Given the description of an element on the screen output the (x, y) to click on. 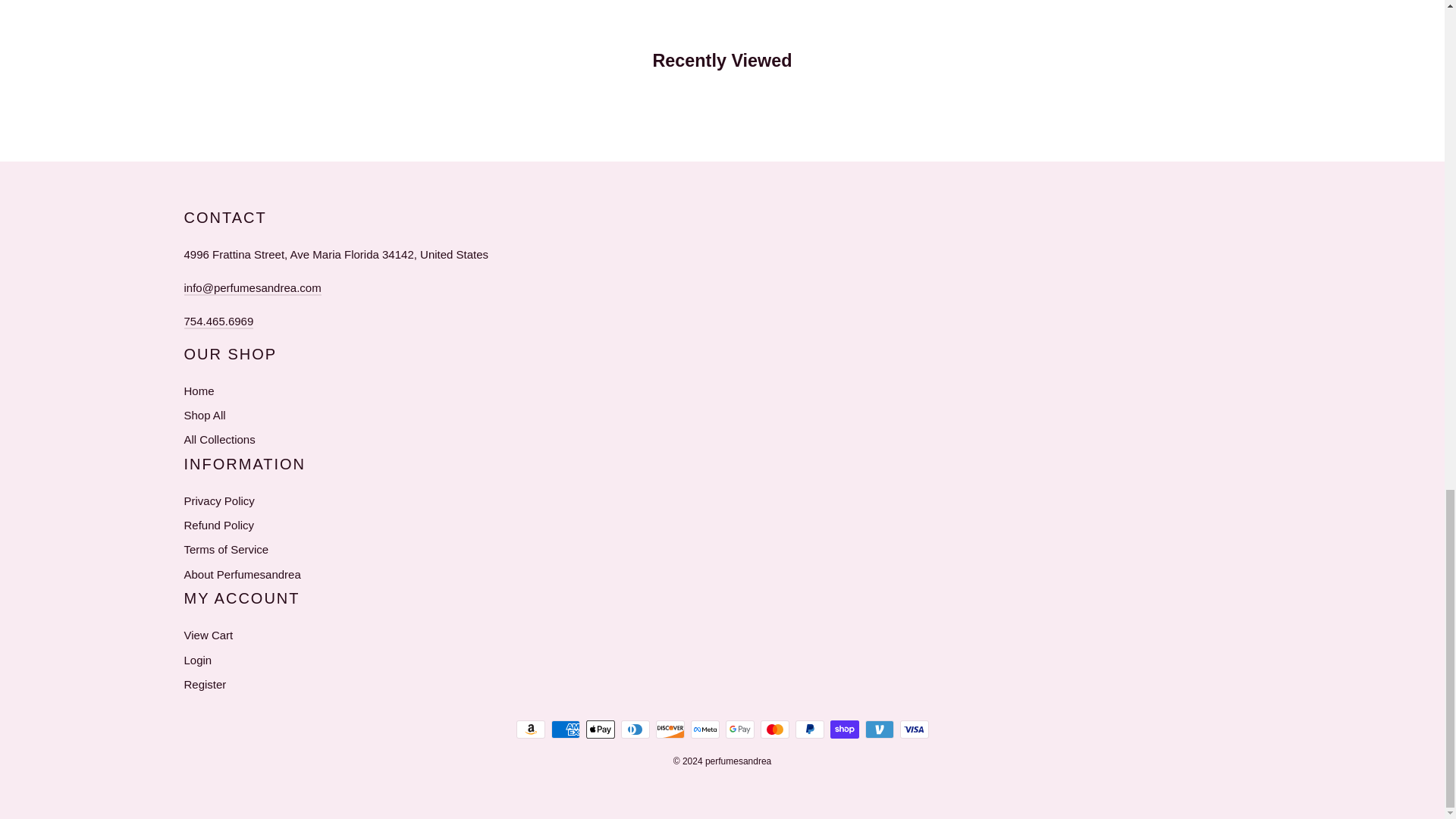
Discover (669, 729)
American Express (564, 729)
Diners Club (634, 729)
tel:7544656969 (218, 321)
Apple Pay (599, 729)
Amazon (529, 729)
